Given the description of an element on the screen output the (x, y) to click on. 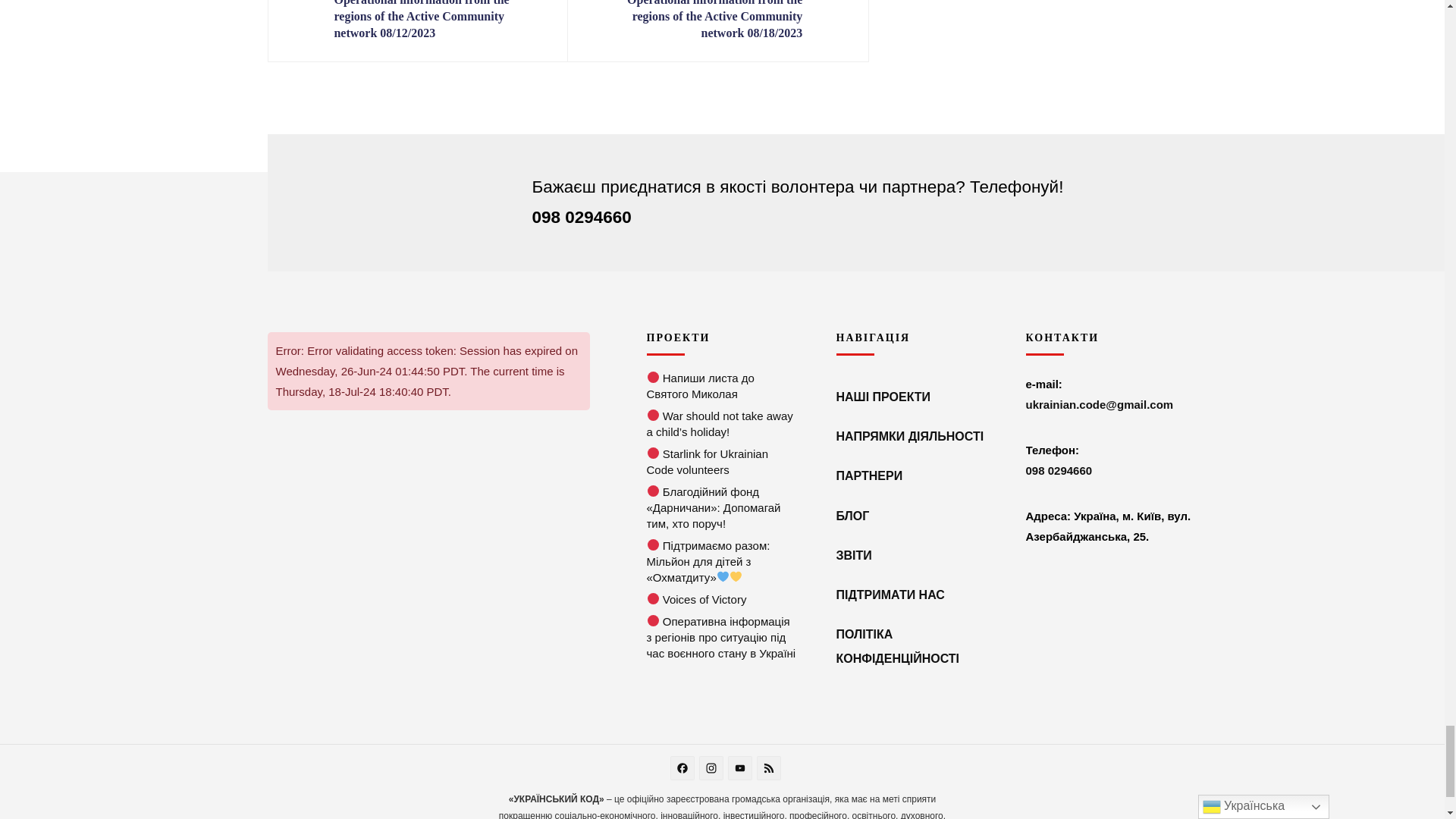
Facebook (683, 769)
Starlink for Ukrainian Code volunteers (654, 453)
Voices of Victory (654, 599)
